Given the description of an element on the screen output the (x, y) to click on. 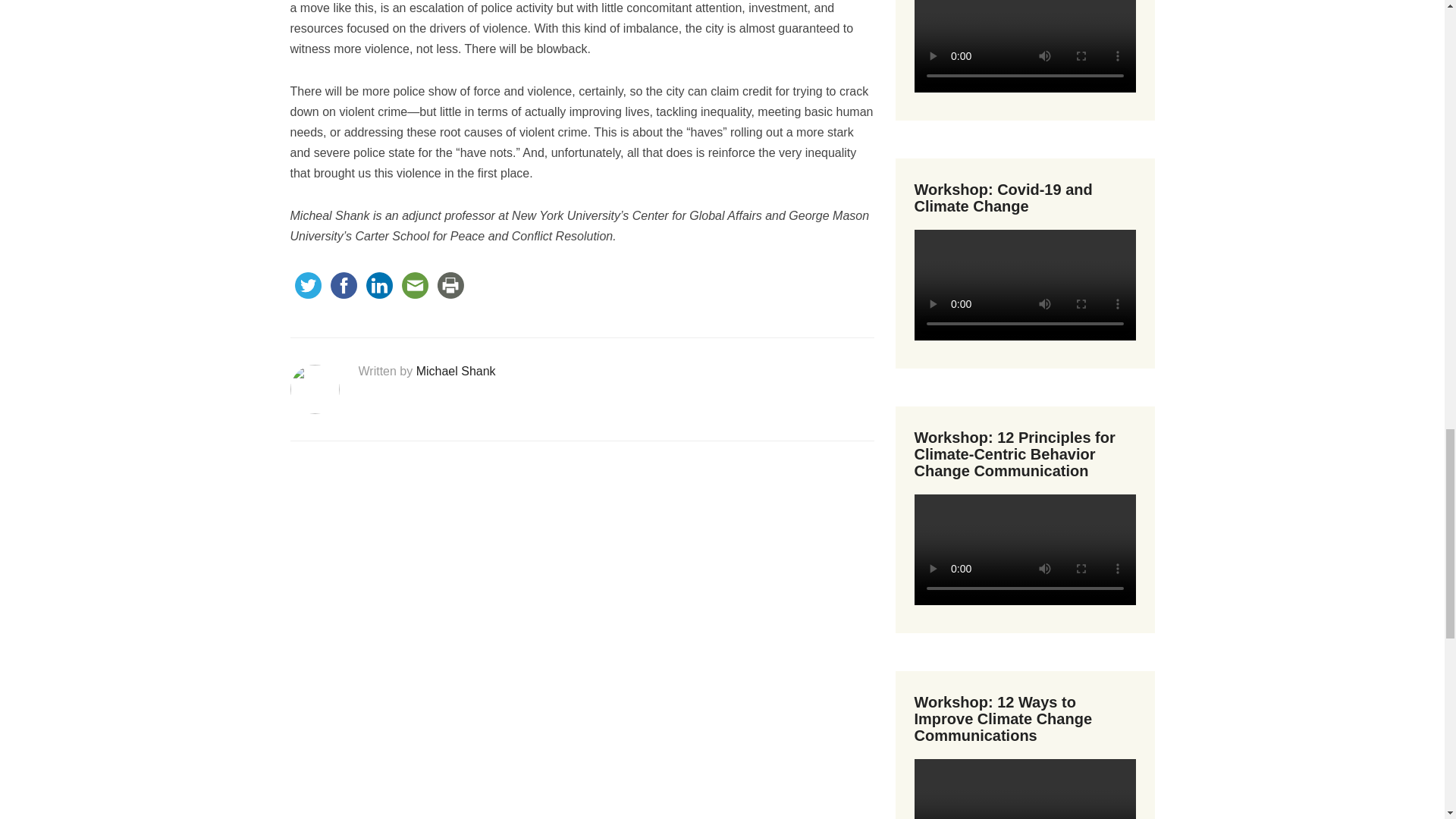
linkedin (378, 285)
print (449, 285)
Michael Shank (456, 370)
email (414, 285)
facebook (343, 285)
twitter (306, 285)
